Given the description of an element on the screen output the (x, y) to click on. 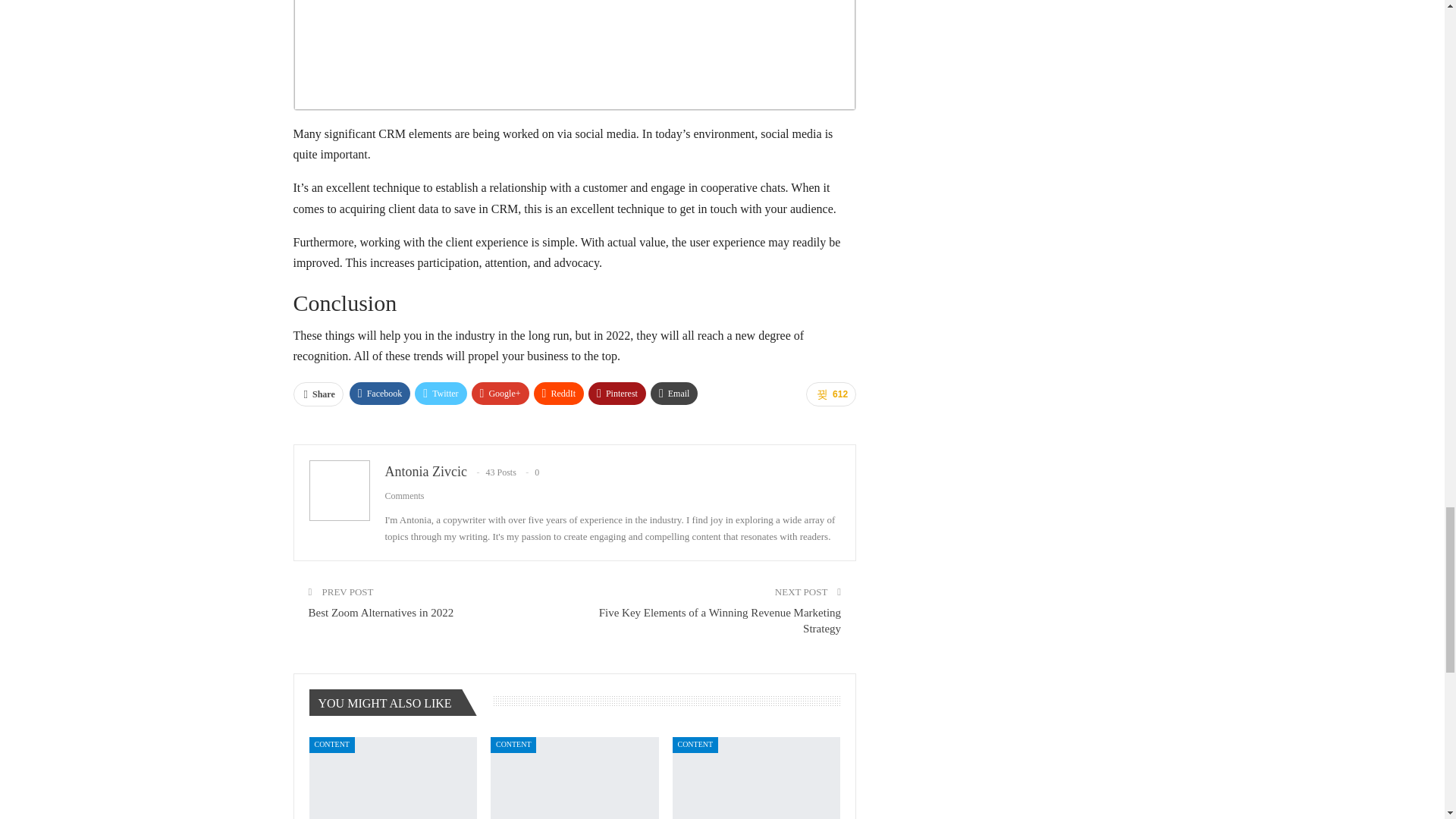
Antonia Zivcic (426, 471)
Five Key Elements of a Winning Revenue Marketing Strategy (719, 620)
Best Zoom Alternatives in 2022 (379, 612)
YOU MIGHT ALSO LIKE (389, 703)
Pinterest (617, 393)
Email (674, 393)
World of Chainsaw Man Manga Online: An Unmissable Experience (574, 778)
Twitter (439, 393)
Facebook (379, 393)
Dive into the World of Onionplay: Streaming Reimagined! (392, 778)
ReddIt (559, 393)
CONTENT (331, 744)
